Given the description of an element on the screen output the (x, y) to click on. 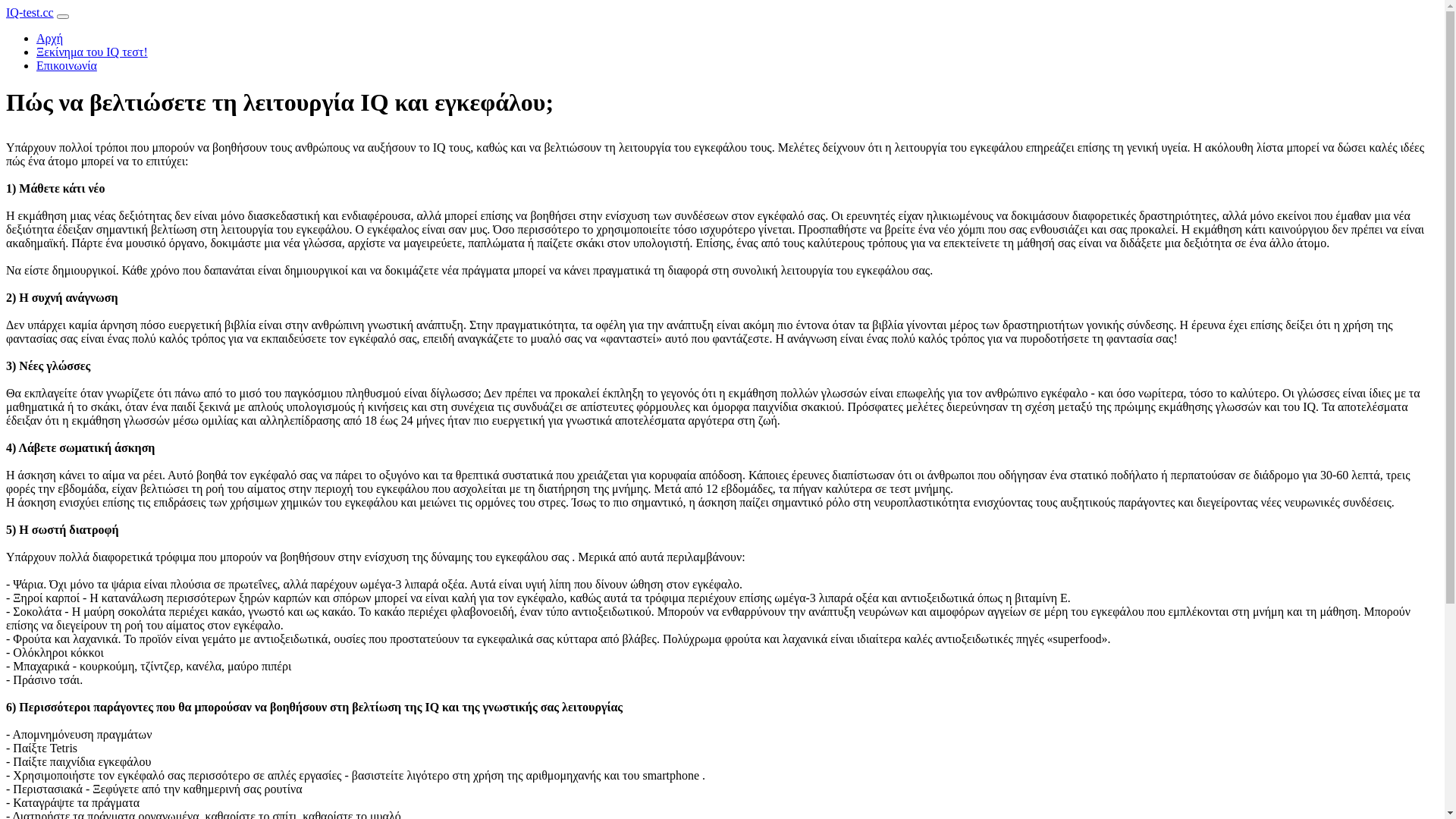
IQ-test.cc Element type: text (29, 12)
